Given the description of an element on the screen output the (x, y) to click on. 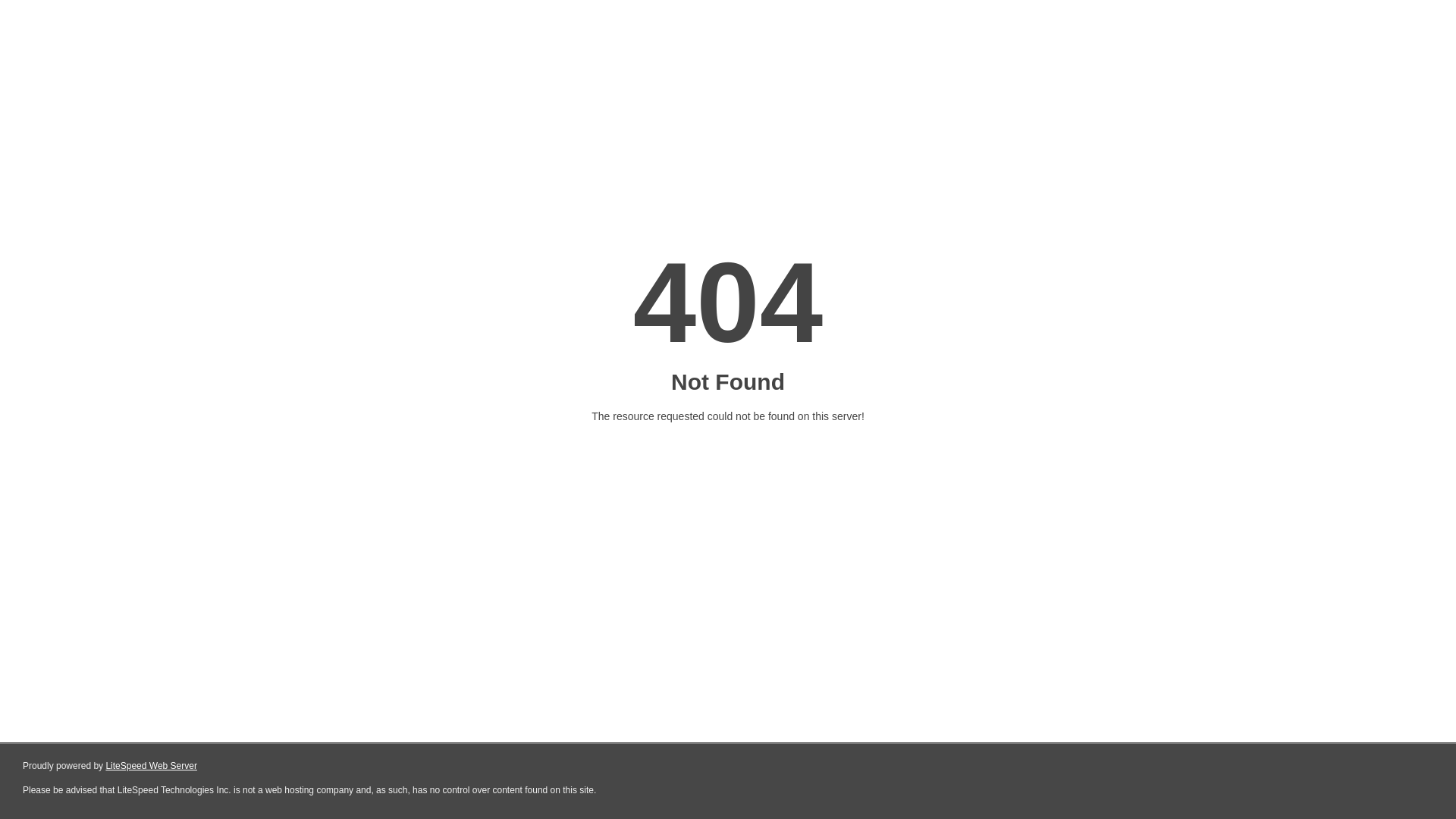
LiteSpeed Web Server Element type: text (151, 765)
